Given the description of an element on the screen output the (x, y) to click on. 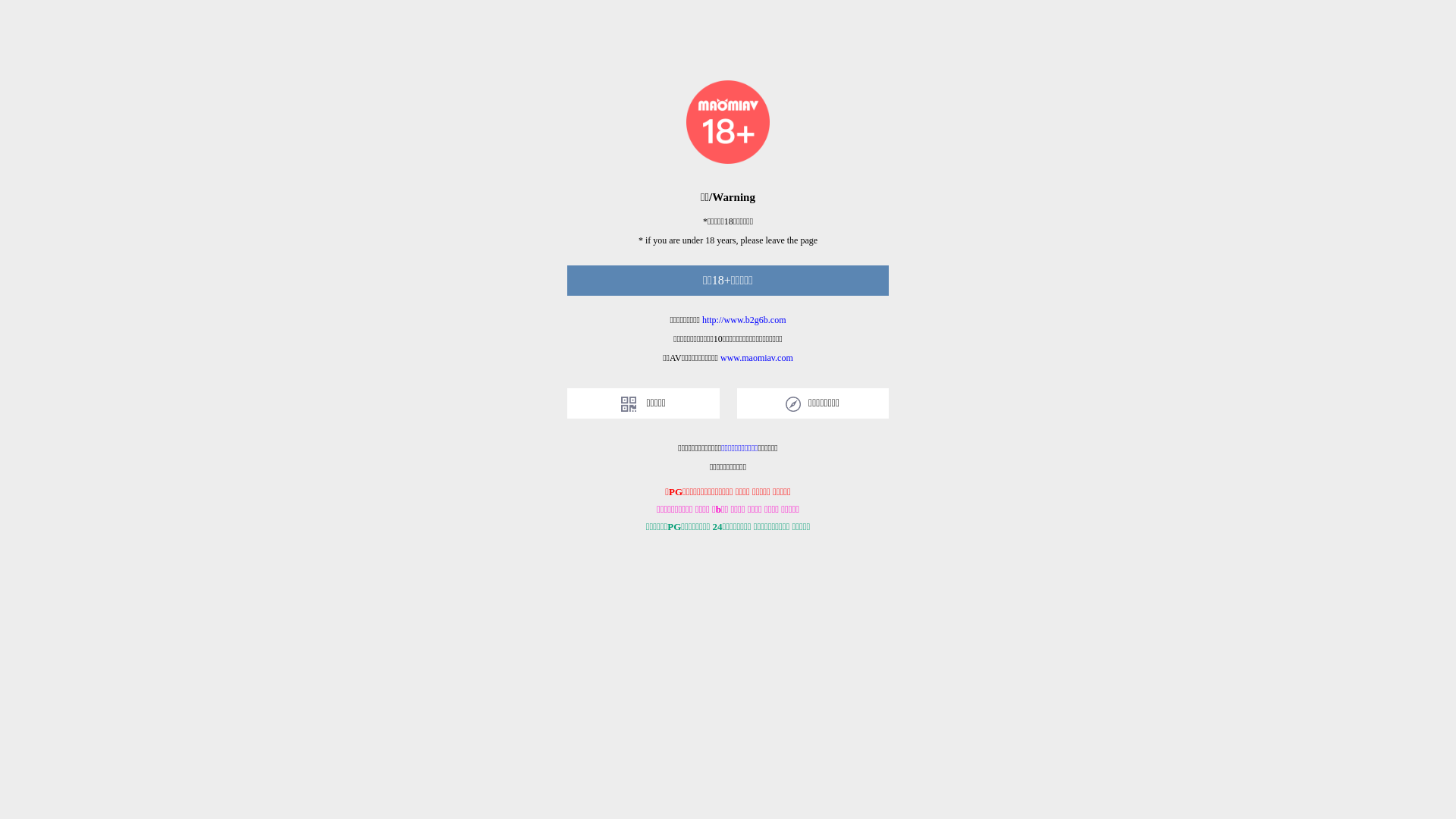
http://www.b2g6b.com Element type: text (744, 319)
www.maomiav.com Element type: text (756, 357)
